Given the description of an element on the screen output the (x, y) to click on. 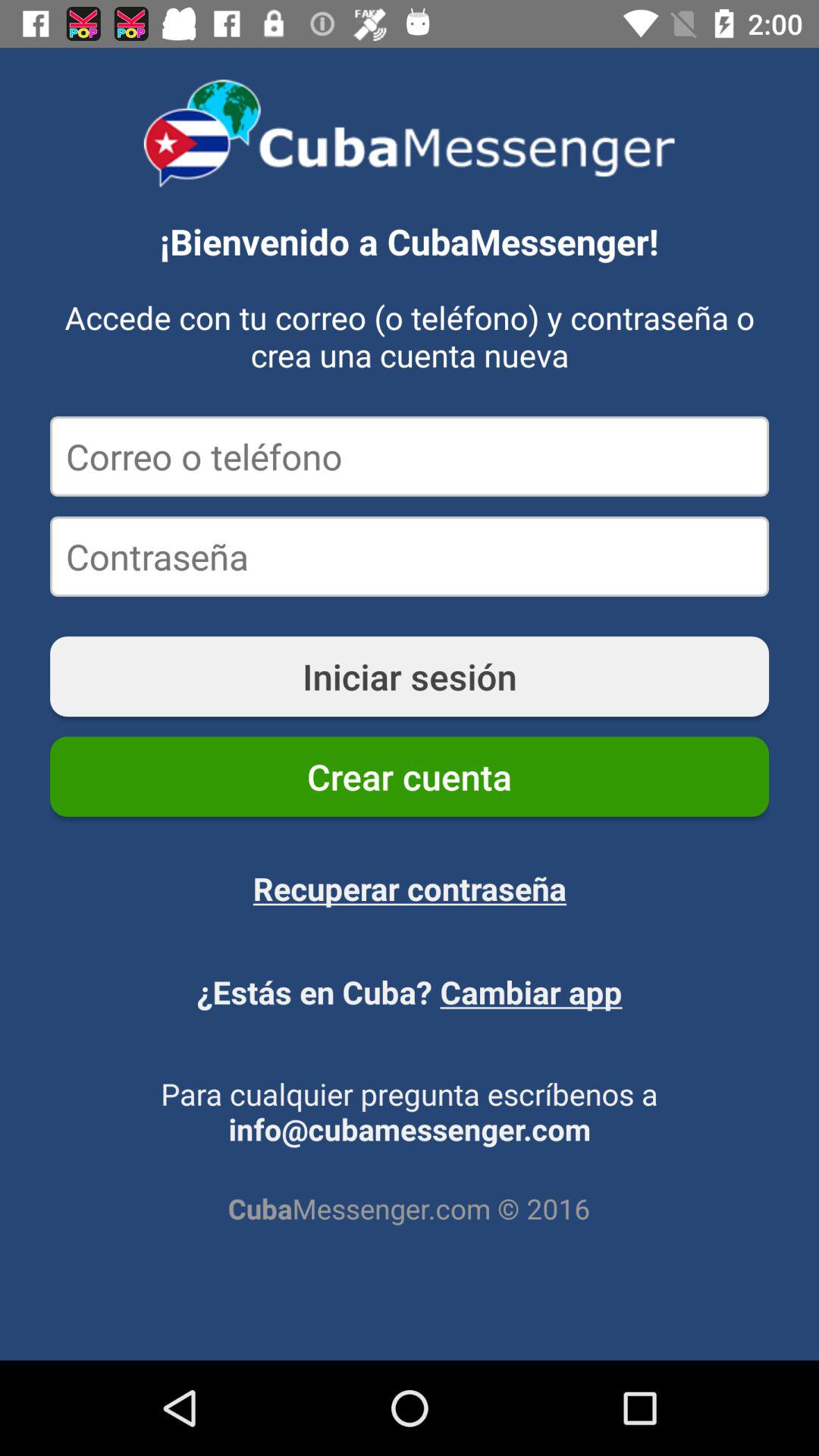
press item above para cualquier pregunta item (409, 991)
